Given the description of an element on the screen output the (x, y) to click on. 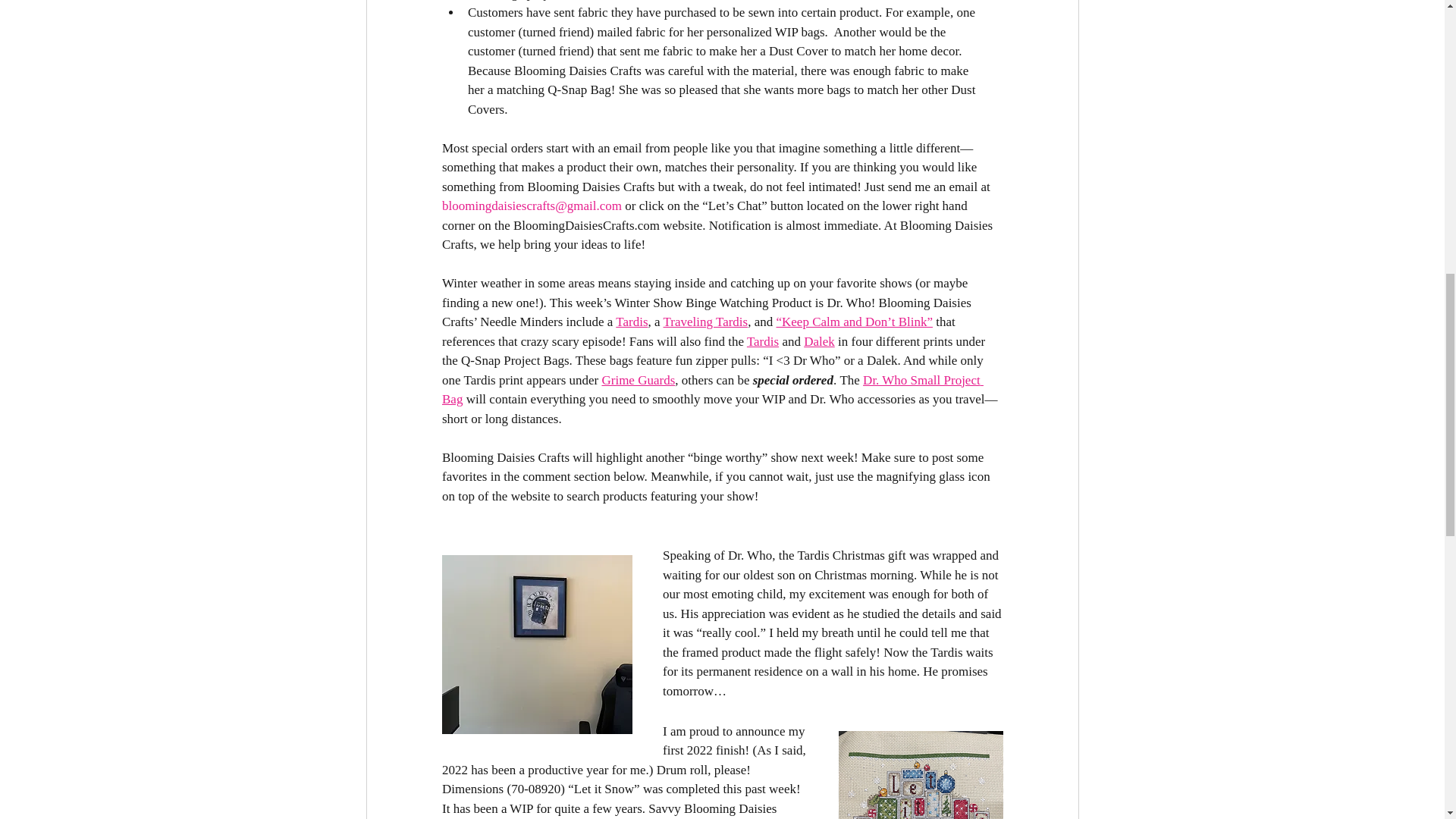
Dr. Who Small Project Bag (711, 390)
Traveling Tardis (705, 321)
Tardis (761, 340)
Grime Guards (638, 380)
Dalek (818, 340)
Tardis (631, 321)
